Given the description of an element on the screen output the (x, y) to click on. 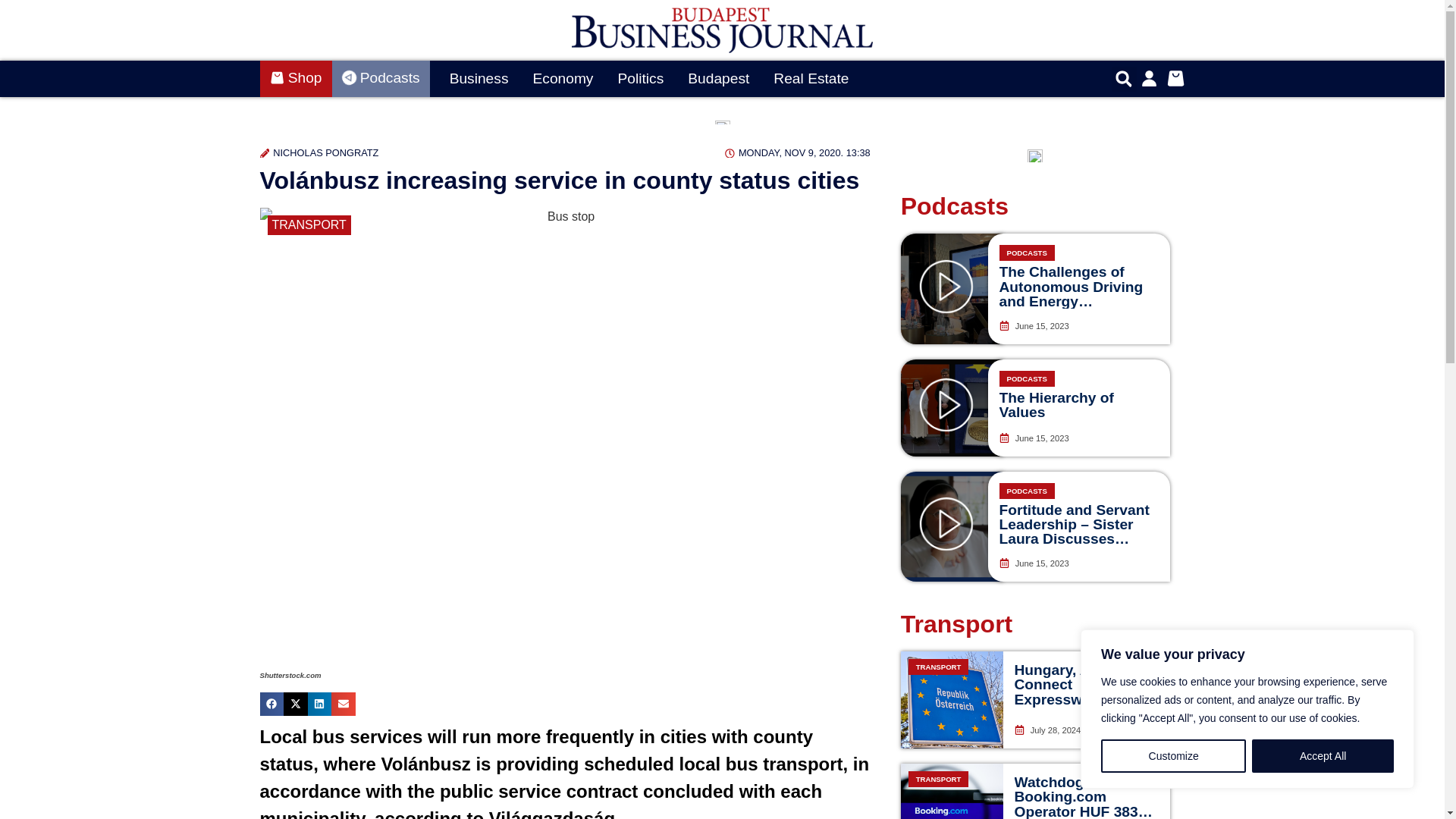
Accept All (1322, 756)
Politics (640, 78)
MONDAY, NOV 9, 2020. 13:38 (797, 152)
Shop (295, 78)
Real Estate (810, 78)
Budapest (718, 78)
Podcasts (380, 78)
Customize (1173, 756)
Economy (562, 78)
NICHOLAS PONGRATZ (318, 152)
TRANSPORT (308, 225)
Business (478, 78)
